Given the description of an element on the screen output the (x, y) to click on. 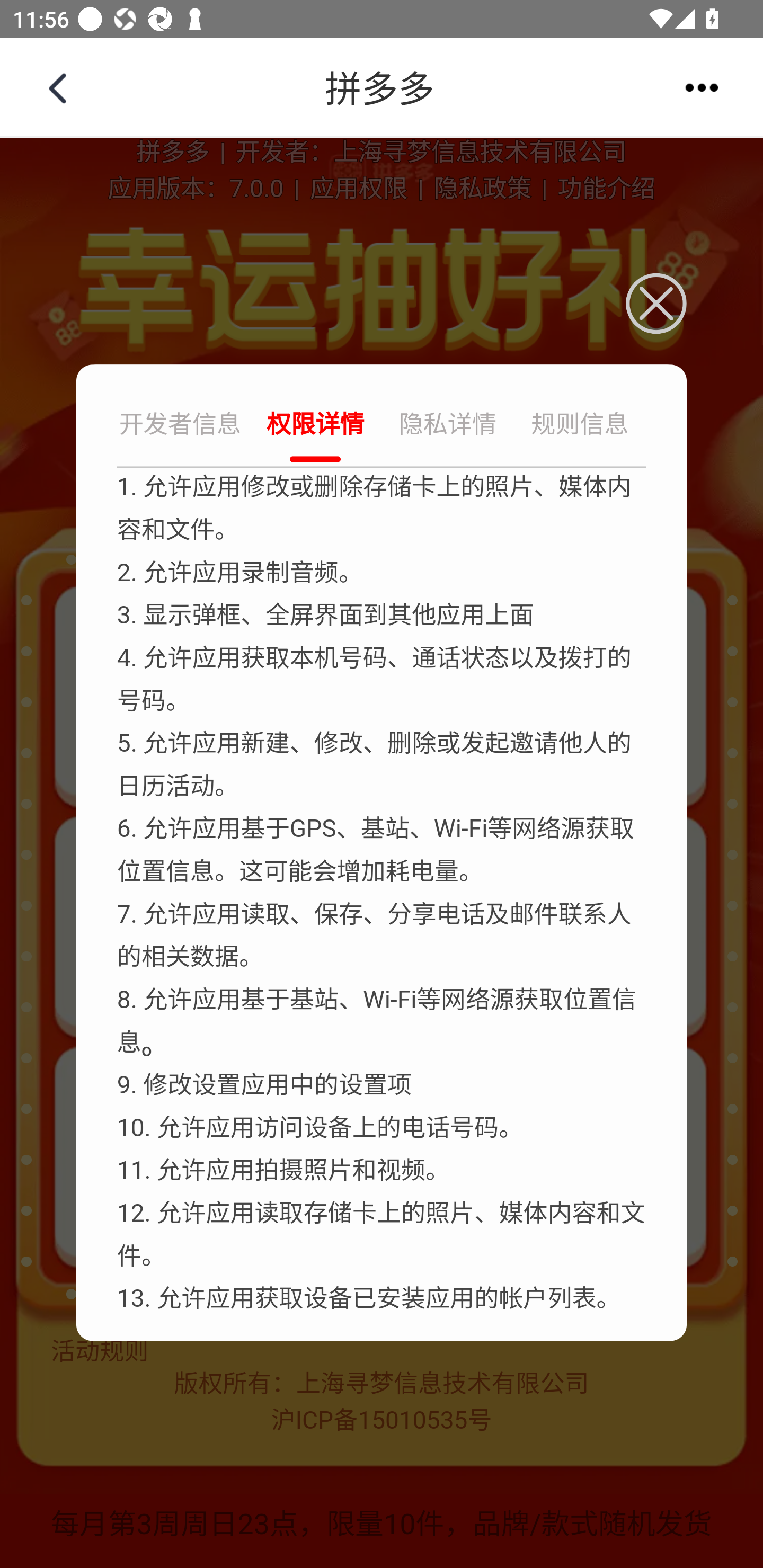
更多 (701, 86)
开发者信息  (182, 425)
权限详情 (315, 425)
隐私详情 (448, 425)
规则信息 (580, 425)
